Given the description of an element on the screen output the (x, y) to click on. 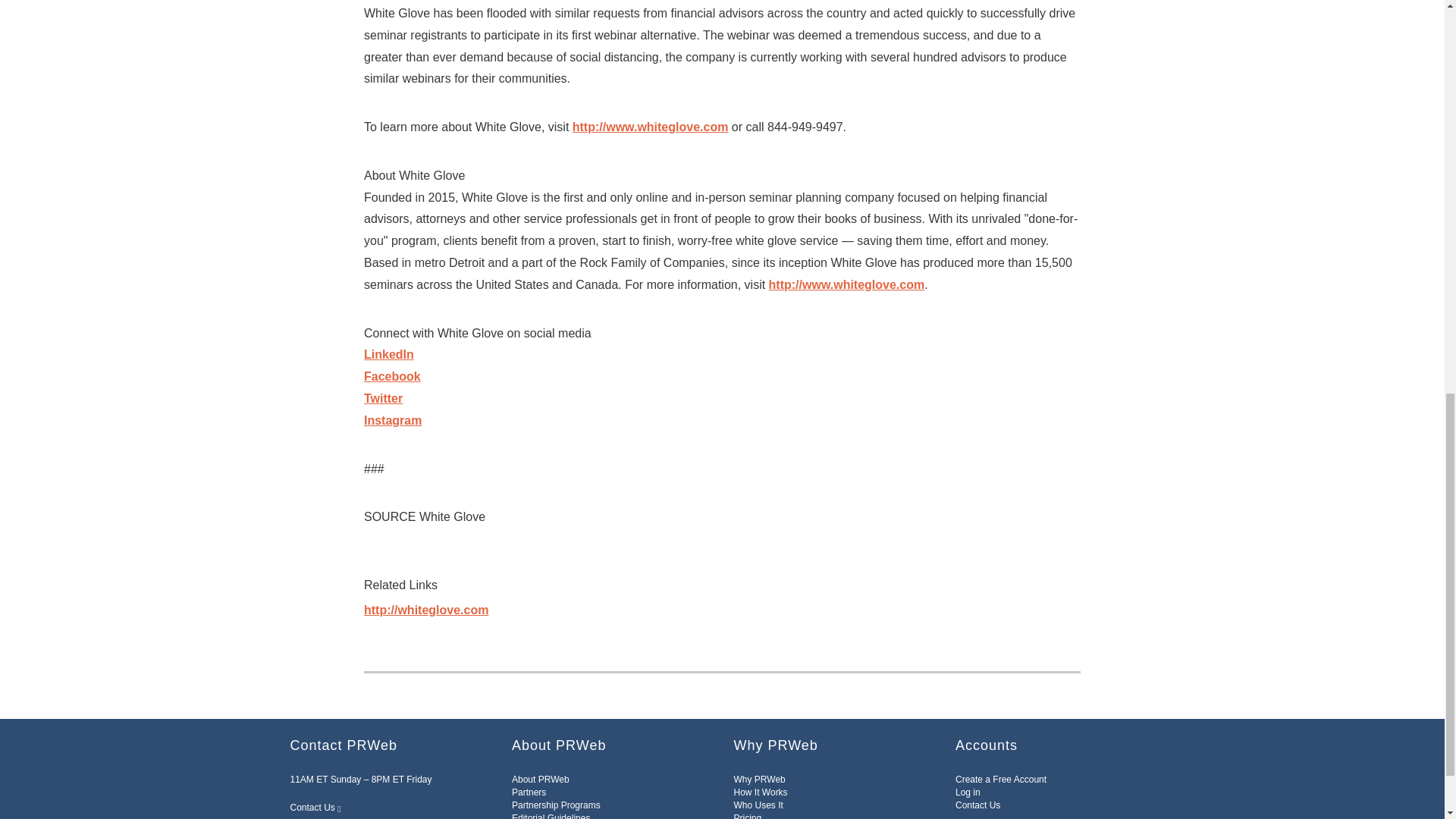
Partners (529, 792)
Editorial Guidelines (550, 816)
Why PRWeb (759, 778)
How It Works (760, 792)
About PRWeb (540, 778)
Partnership Programs (555, 805)
